Given the description of an element on the screen output the (x, y) to click on. 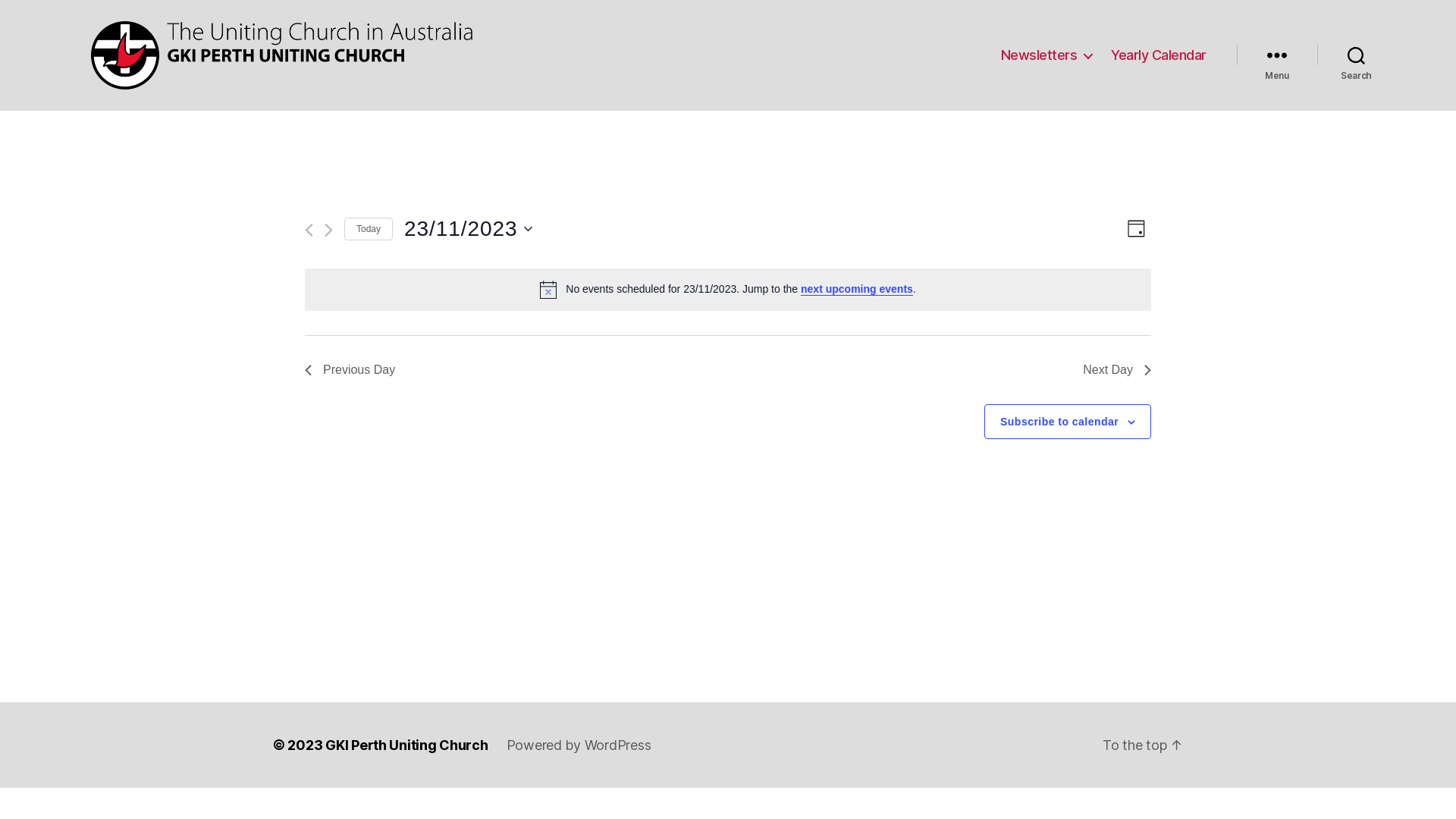
23/11/2023 Element type: text (467, 228)
Next day Element type: hover (328, 229)
Search Element type: text (1356, 55)
Day Element type: text (1136, 228)
Today Element type: text (368, 229)
Previous Day Element type: text (349, 369)
Yearly Calendar Element type: text (1158, 55)
Next Day Element type: text (1116, 369)
next upcoming events Element type: text (856, 288)
Newsletters Element type: text (1046, 55)
Subscribe to calendar Element type: text (1059, 421)
Menu Element type: text (1276, 55)
GKI Perth Uniting Church Element type: text (406, 745)
Powered by WordPress Element type: text (578, 745)
Previous day Element type: hover (308, 229)
